Given the description of an element on the screen output the (x, y) to click on. 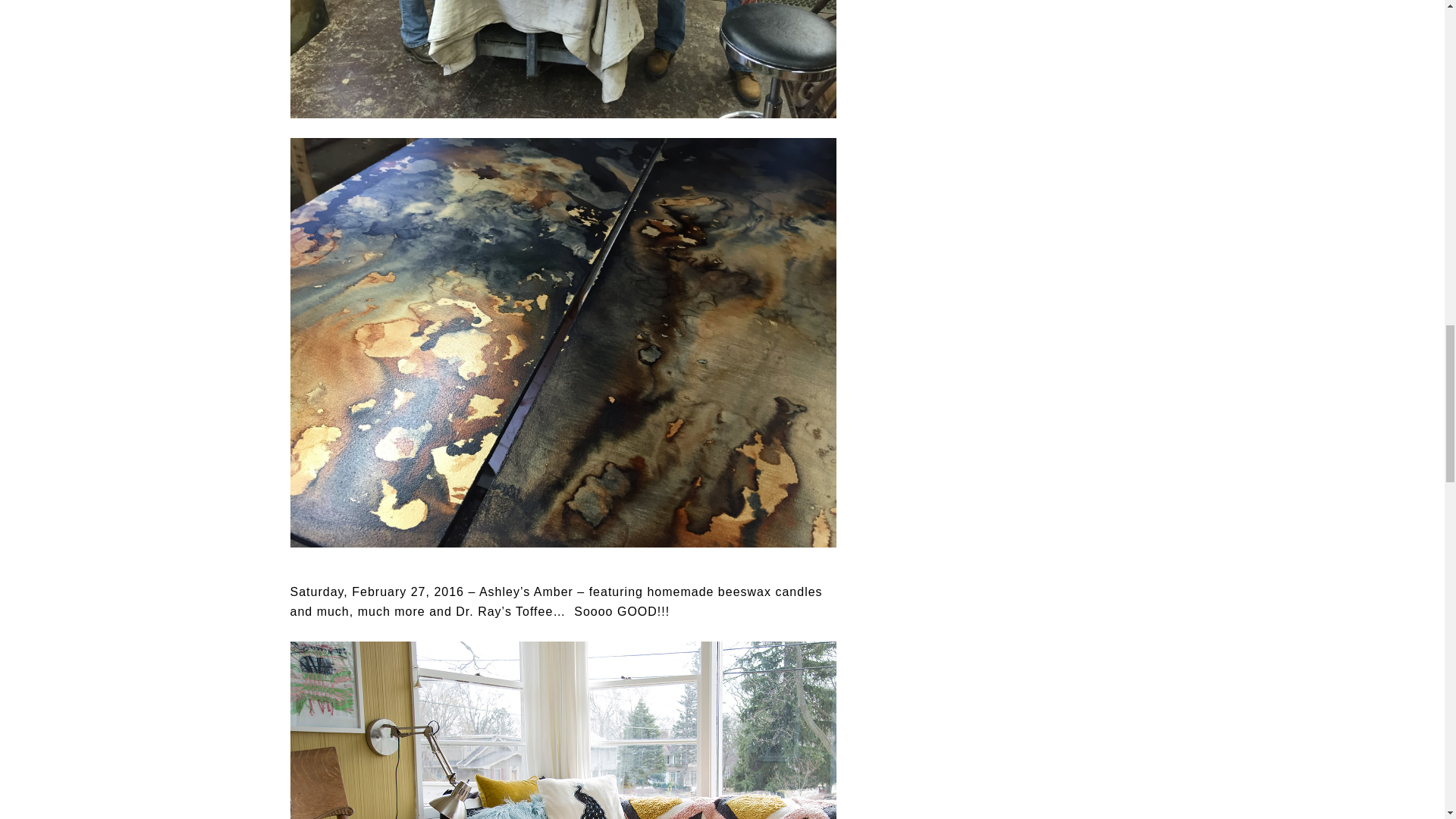
IMG 9166 (562, 730)
